Given the description of an element on the screen output the (x, y) to click on. 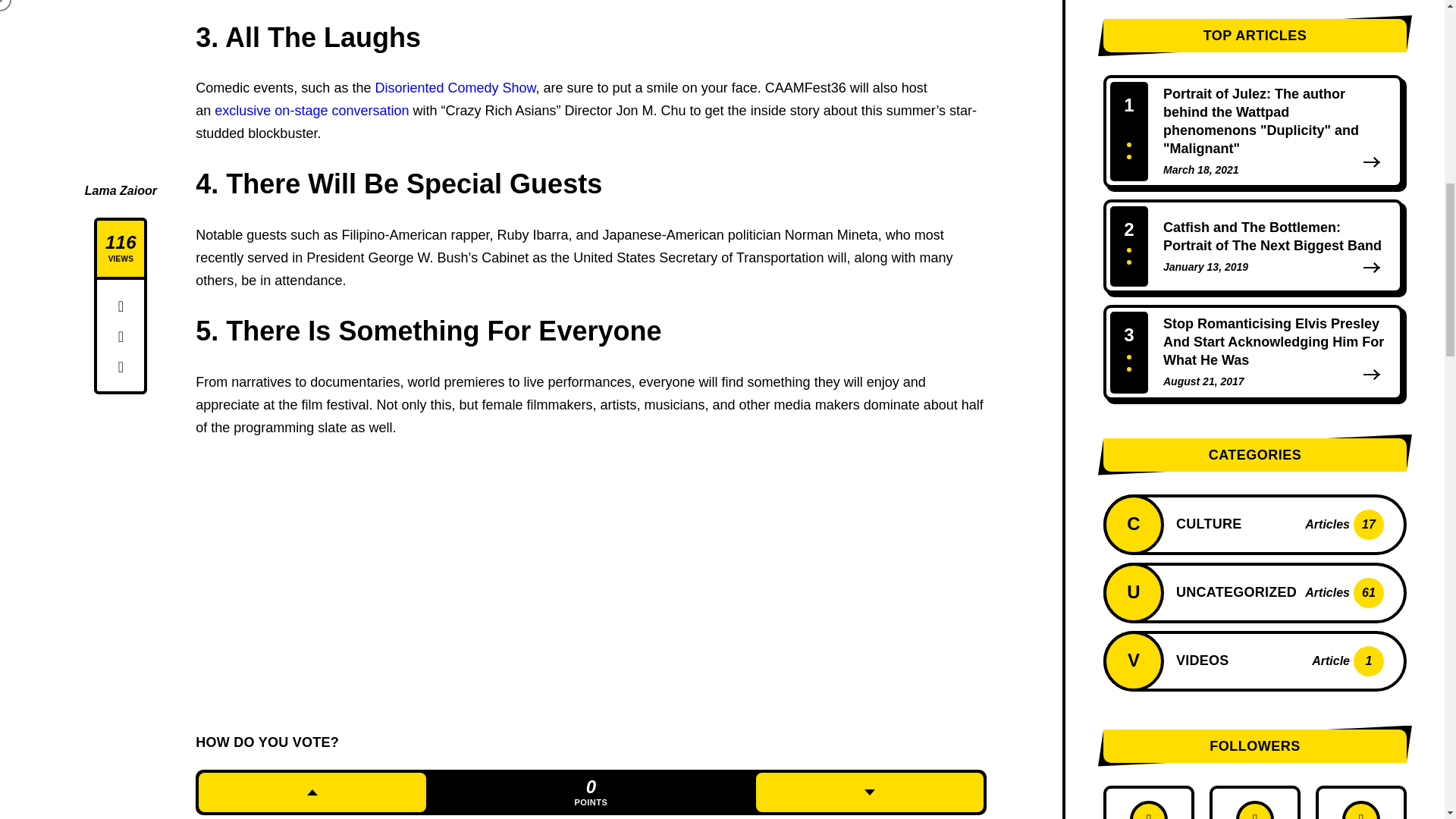
Mute (1338, 44)
